Given the description of an element on the screen output the (x, y) to click on. 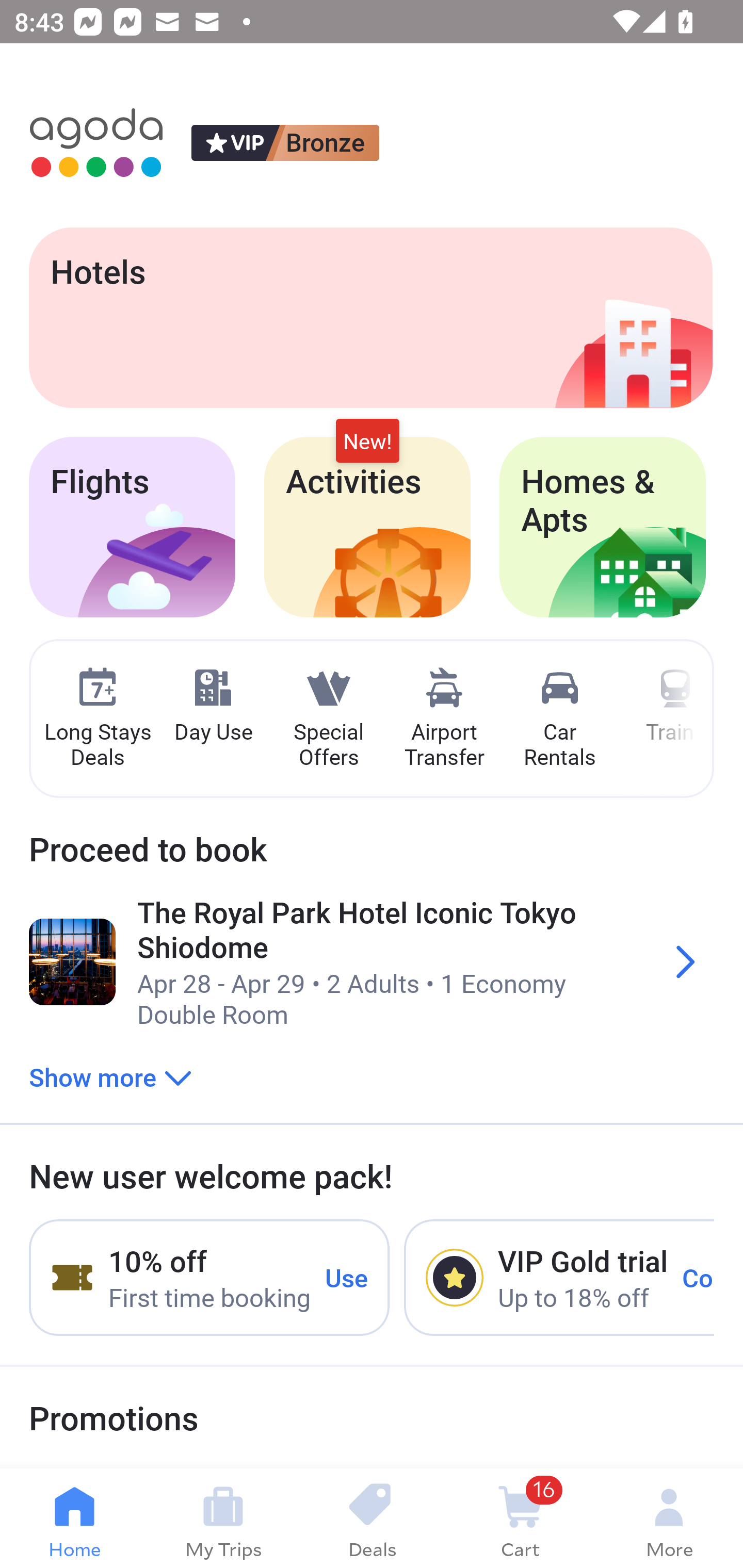
Hotels (370, 317)
New! (367, 441)
Flights (131, 527)
Activities (367, 527)
Homes & Apts (602, 527)
Day Use (213, 706)
Long Stays Deals (97, 718)
Special Offers (328, 718)
Airport Transfer (444, 718)
Car Rentals (559, 718)
Show more (110, 1076)
Use (346, 1277)
Home (74, 1518)
My Trips (222, 1518)
Deals (371, 1518)
16 Cart (519, 1518)
More (668, 1518)
